Given the description of an element on the screen output the (x, y) to click on. 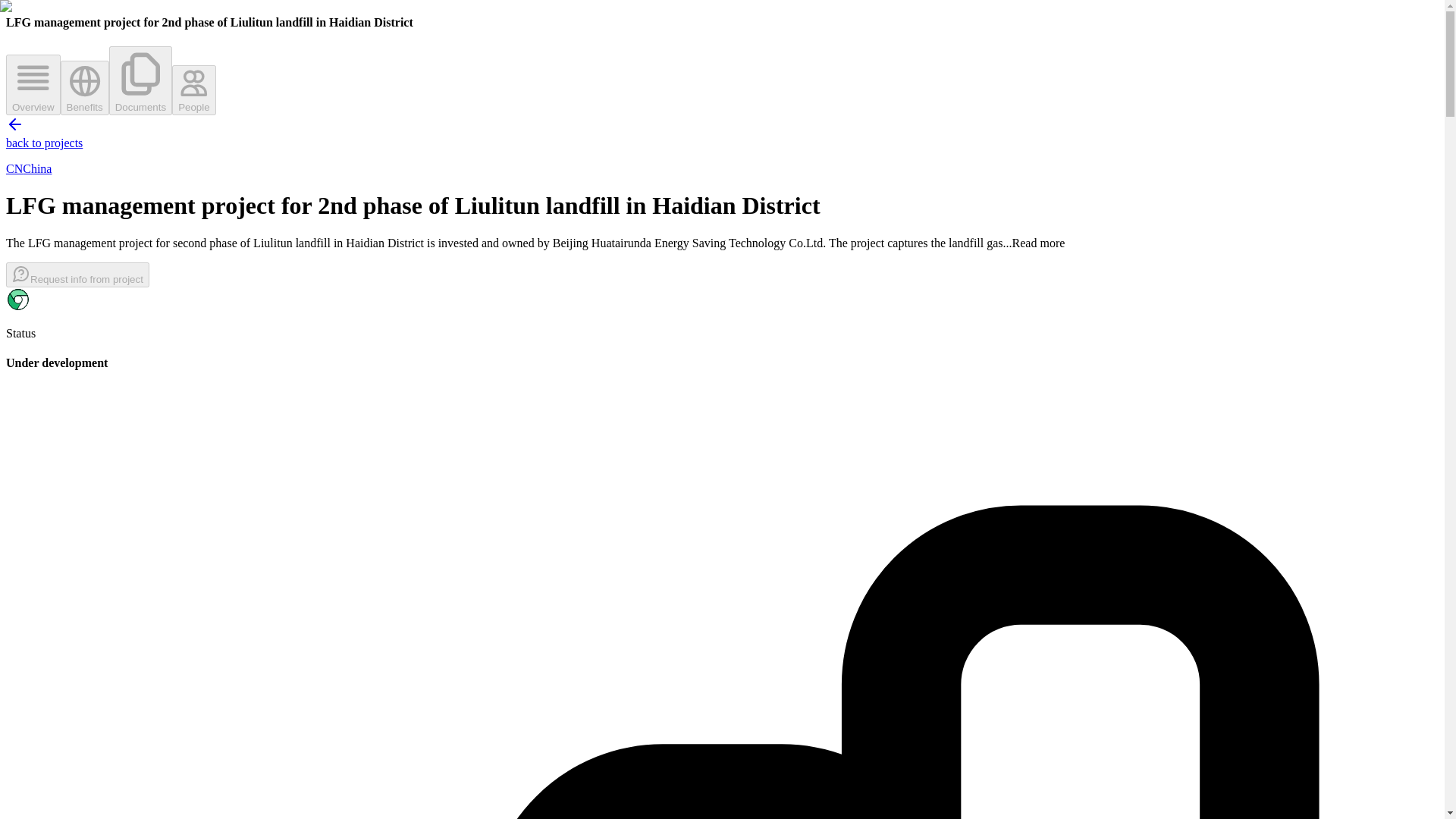
Documents (140, 80)
Overview (33, 84)
Request info from project (77, 274)
